Given the description of an element on the screen output the (x, y) to click on. 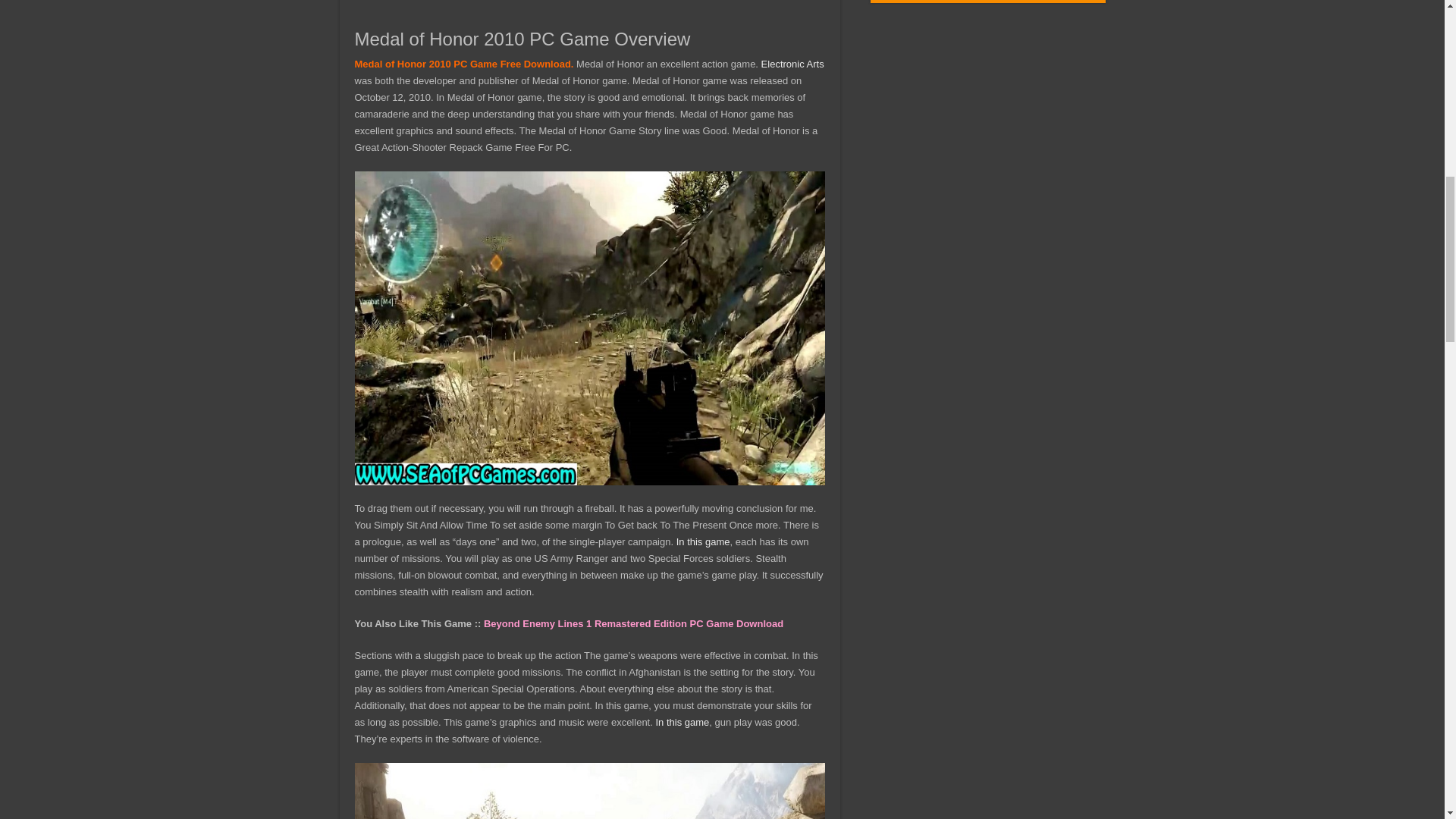
Beyond Enemy Lines 1 Remastered Edition PC Game Download (633, 623)
Medal of Honor 2010 PC Game Free Download. (464, 63)
In this game (682, 722)
Scroll To Top (1421, 60)
Electronic Arts (792, 63)
Medal of Honor 2010 Full Version Game Free For PC (590, 790)
In this game (703, 541)
